Given the description of an element on the screen output the (x, y) to click on. 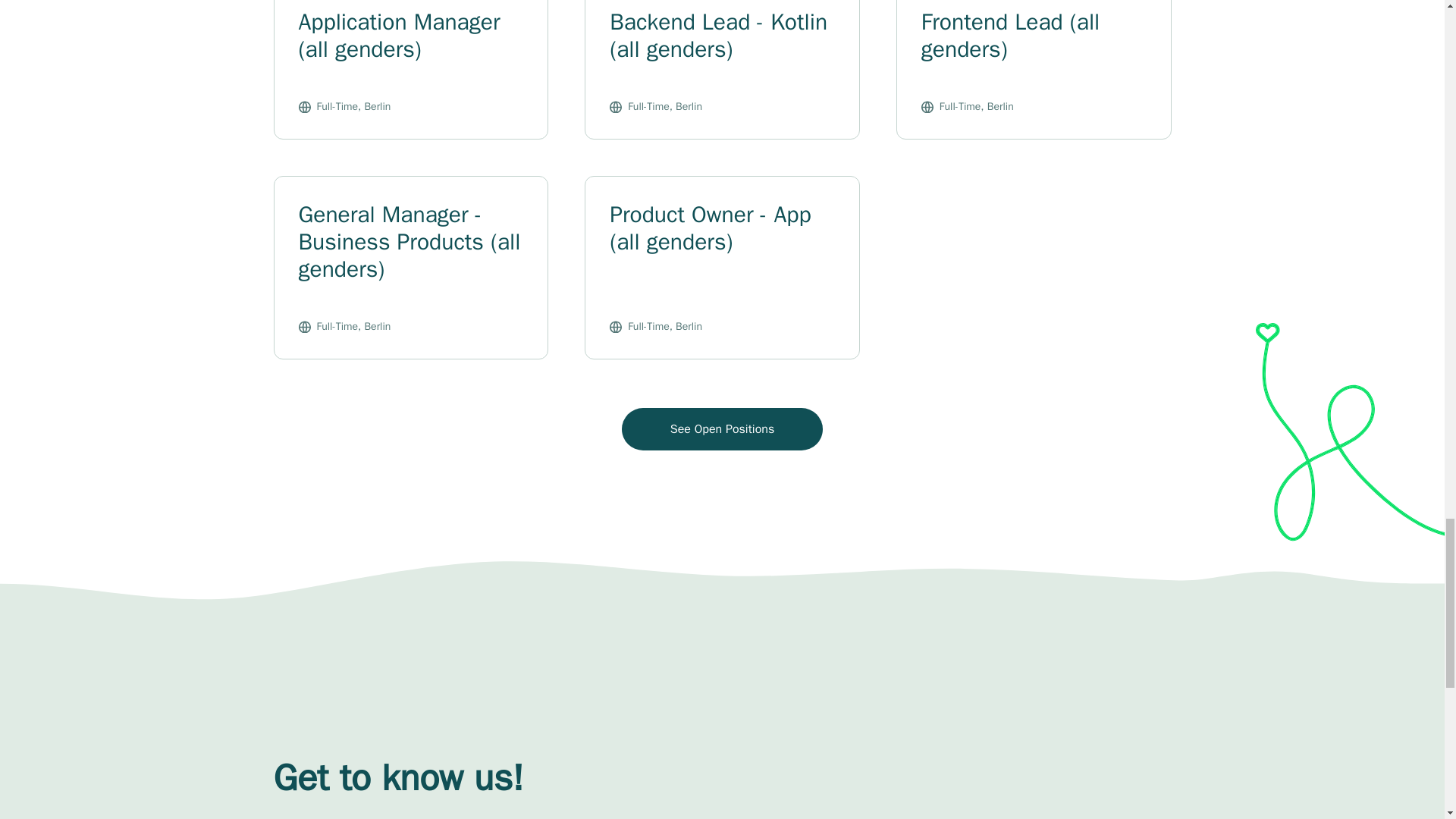
See Open Positions (721, 428)
